Given the description of an element on the screen output the (x, y) to click on. 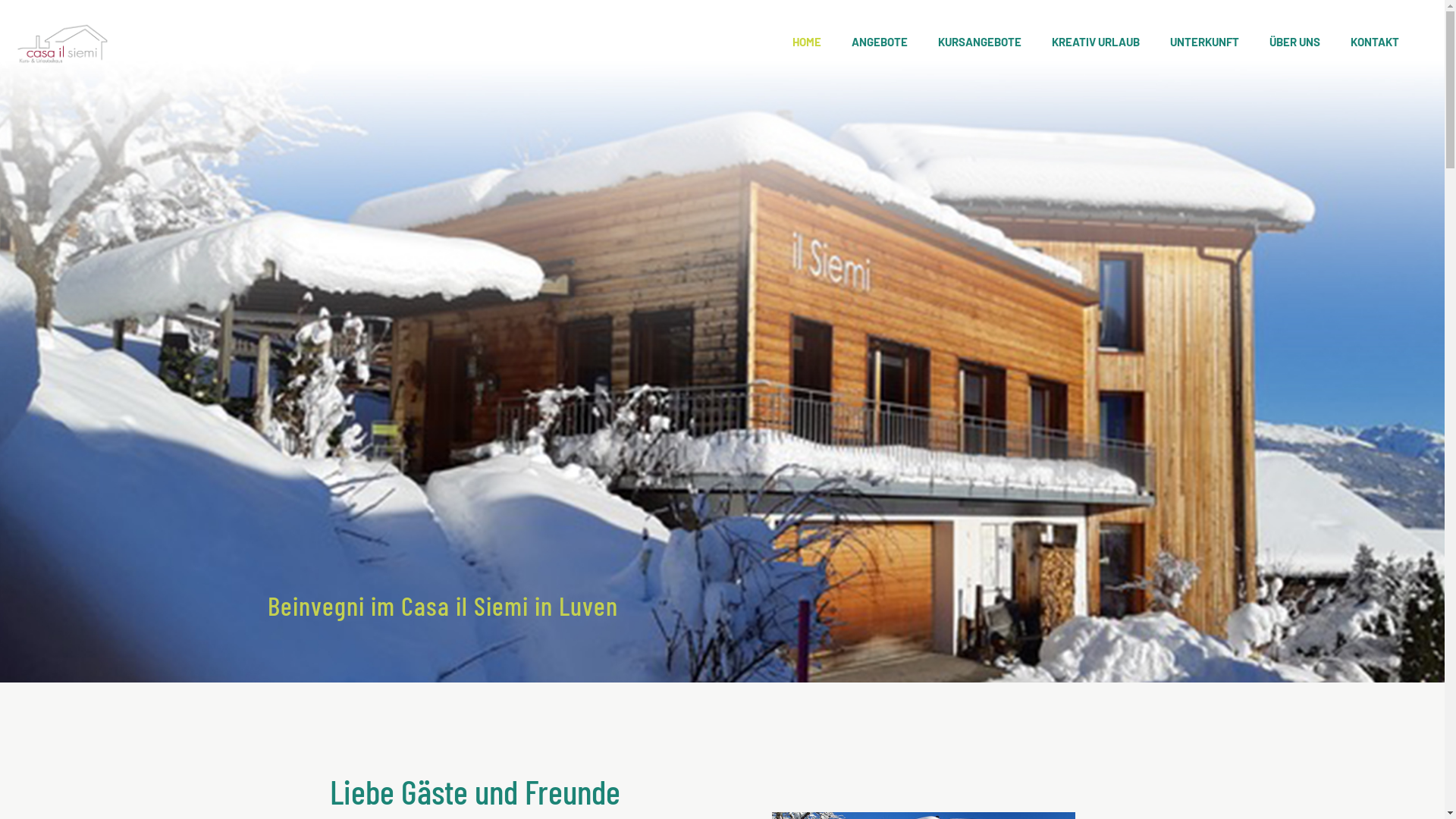
ANGEBOTE Element type: text (879, 41)
KREATIV URLAUB Element type: text (1095, 41)
UNTERKUNFT Element type: text (1204, 41)
KURSANGEBOTE Element type: text (979, 41)
casailsiemi Element type: hover (62, 41)
KONTAKT Element type: text (1374, 41)
HOME Element type: text (806, 41)
